Given the description of an element on the screen output the (x, y) to click on. 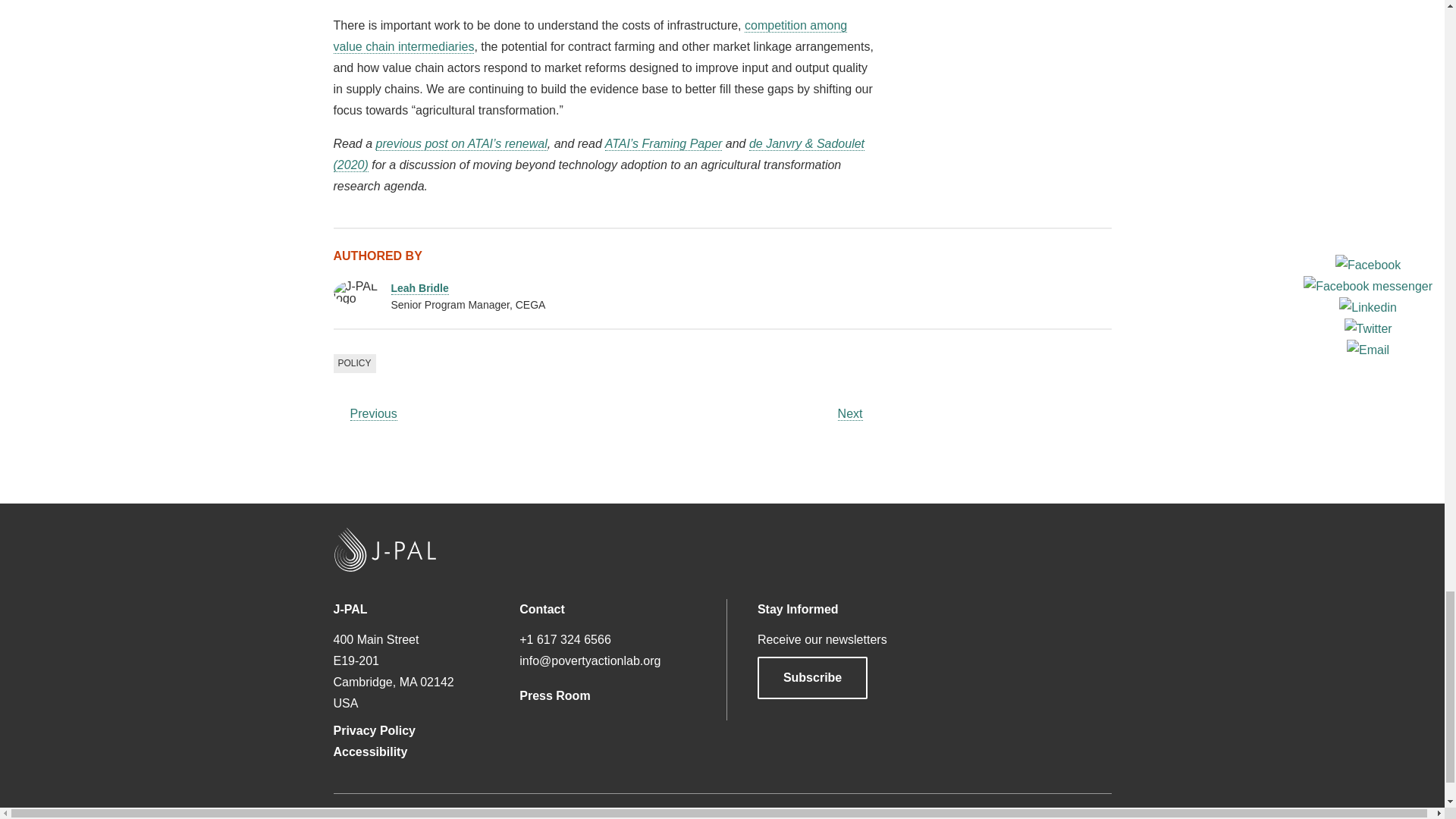
J-PAL logo (355, 292)
